Given the description of an element on the screen output the (x, y) to click on. 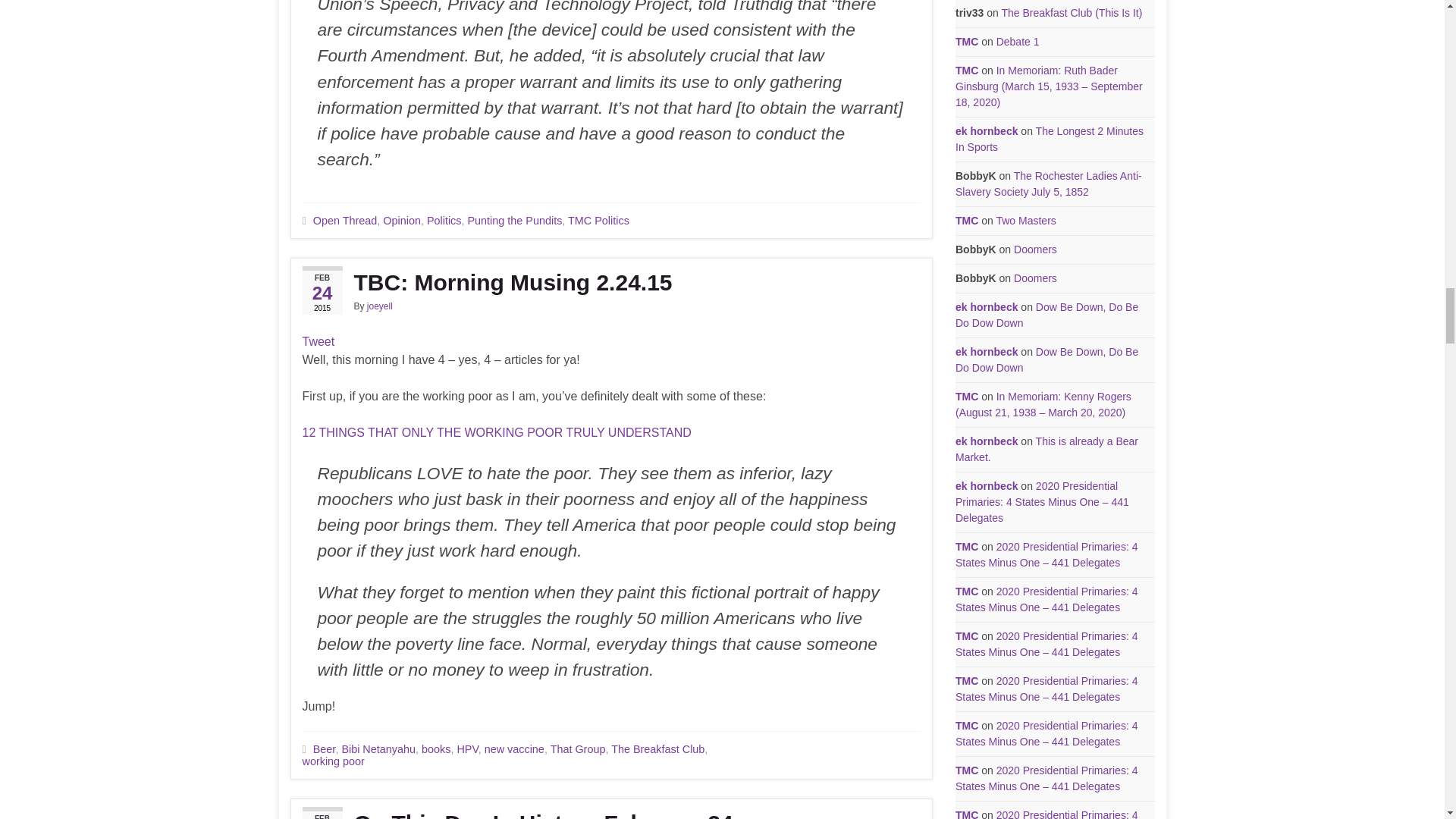
TMC Politics (597, 220)
books (435, 748)
Politics (443, 220)
Bibi Netanyahu (377, 748)
HPV (467, 748)
Open Thread (345, 220)
12 THINGS THAT ONLY THE WORKING POOR TRULY UNDERSTAND (495, 431)
Permalink to On This Day In History February 24 (610, 814)
joeyell (379, 306)
TBC: Morning Musing 2.24.15 (610, 282)
